Given the description of an element on the screen output the (x, y) to click on. 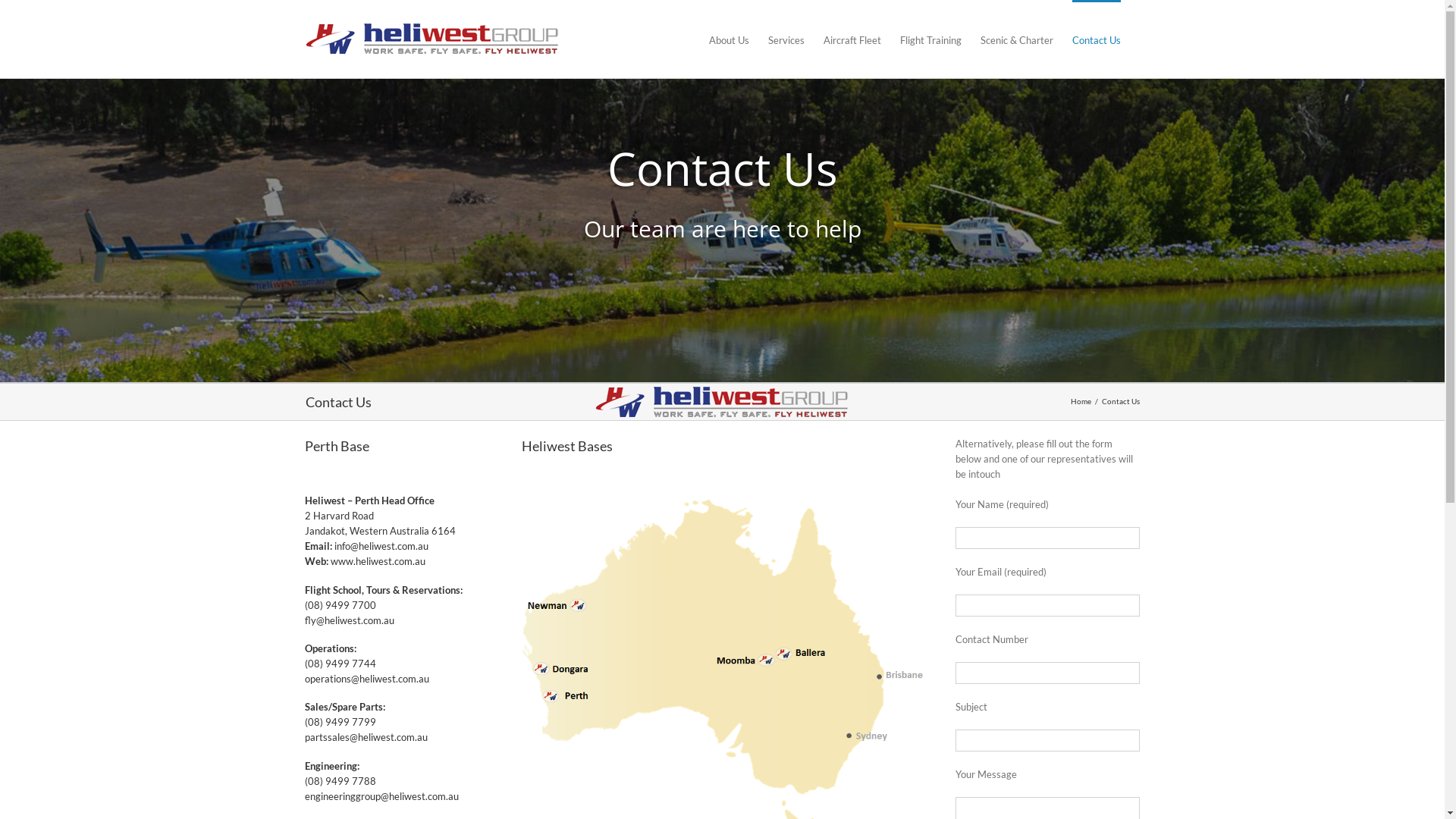
info@heliwest.com.au Element type: text (381, 545)
www.heliwest.com.au Element type: text (377, 561)
engineeringgroup@heliwest.com.au Element type: text (381, 796)
partssales@heliwest.com.au Element type: text (365, 737)
Home Element type: text (1080, 400)
Flight Training Element type: text (929, 39)
fly@heliwest.com.au Element type: text (349, 620)
Scenic & Charter Element type: text (1015, 39)
About Us Element type: text (728, 39)
Contact Us Element type: text (1096, 39)
operations@heliwest.com.au Element type: text (366, 678)
Aircraft Fleet Element type: text (852, 39)
Services Element type: text (785, 39)
